Given the description of an element on the screen output the (x, y) to click on. 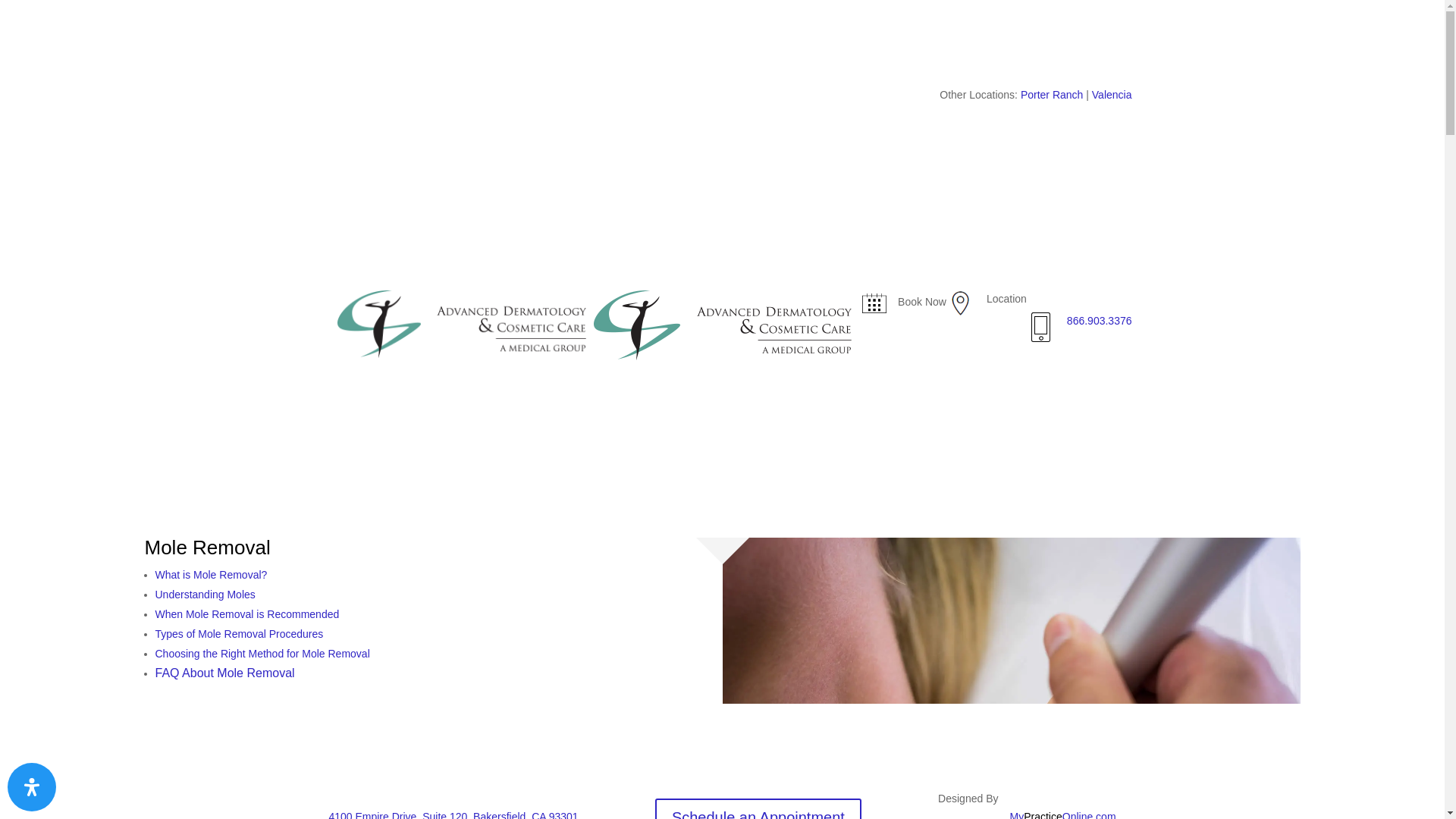
Follow on Instagram (384, 98)
'Designed By' (967, 798)
Follow on Facebook (324, 98)
Follow on Youtube (354, 98)
Follow on TikTok (415, 98)
Porter Ranch (1051, 94)
 Valencia (1110, 94)
Accessibility (31, 786)
